Given the description of an element on the screen output the (x, y) to click on. 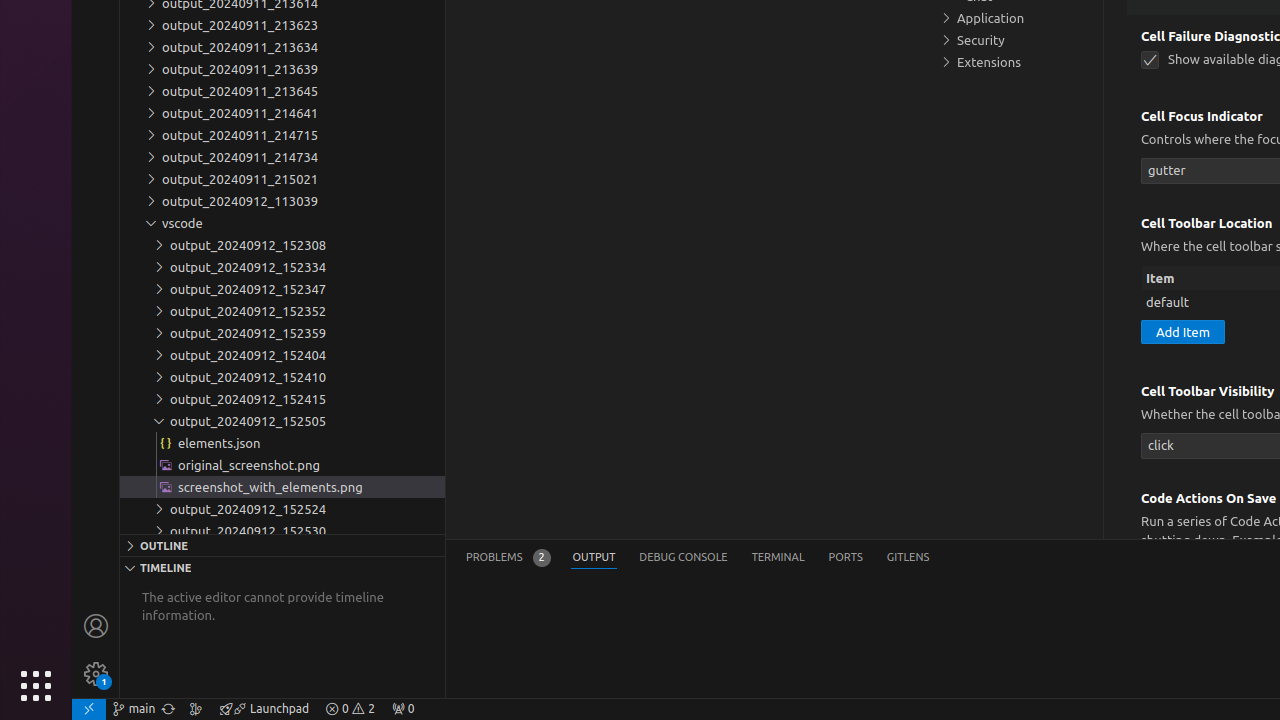
output_20240911_214715 Element type: tree-item (282, 135)
output_20240911_213623 Element type: tree-item (282, 25)
Terminal (Ctrl+`) Element type: page-tab (778, 557)
output_20240911_213634 Element type: tree-item (282, 47)
Problems (Ctrl+Shift+M) - Total 2 Problems Element type: page-tab (507, 557)
